Given the description of an element on the screen output the (x, y) to click on. 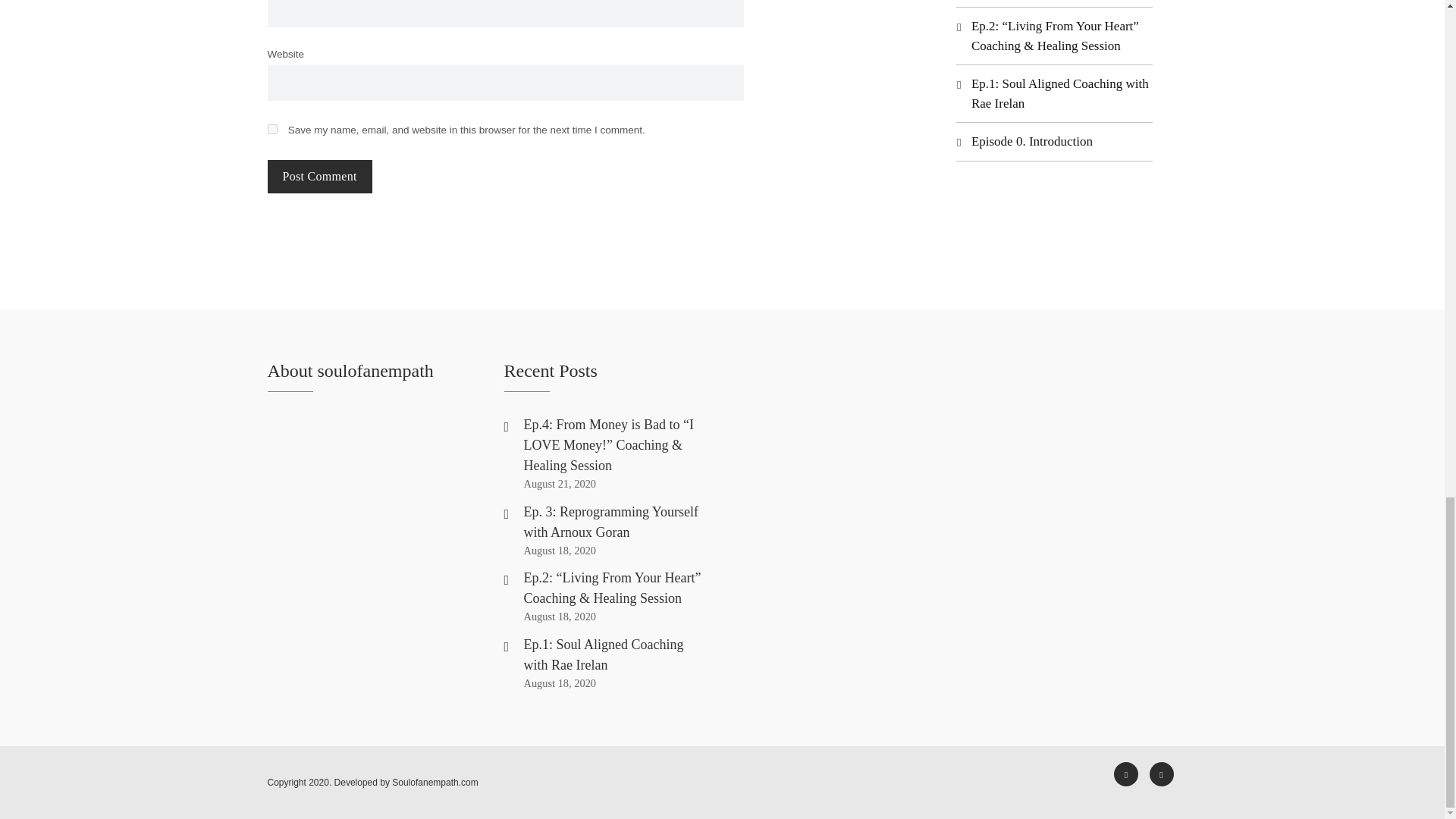
yes (271, 129)
Podcast (1161, 774)
Youtube (1125, 774)
Post Comment (318, 176)
